Given the description of an element on the screen output the (x, y) to click on. 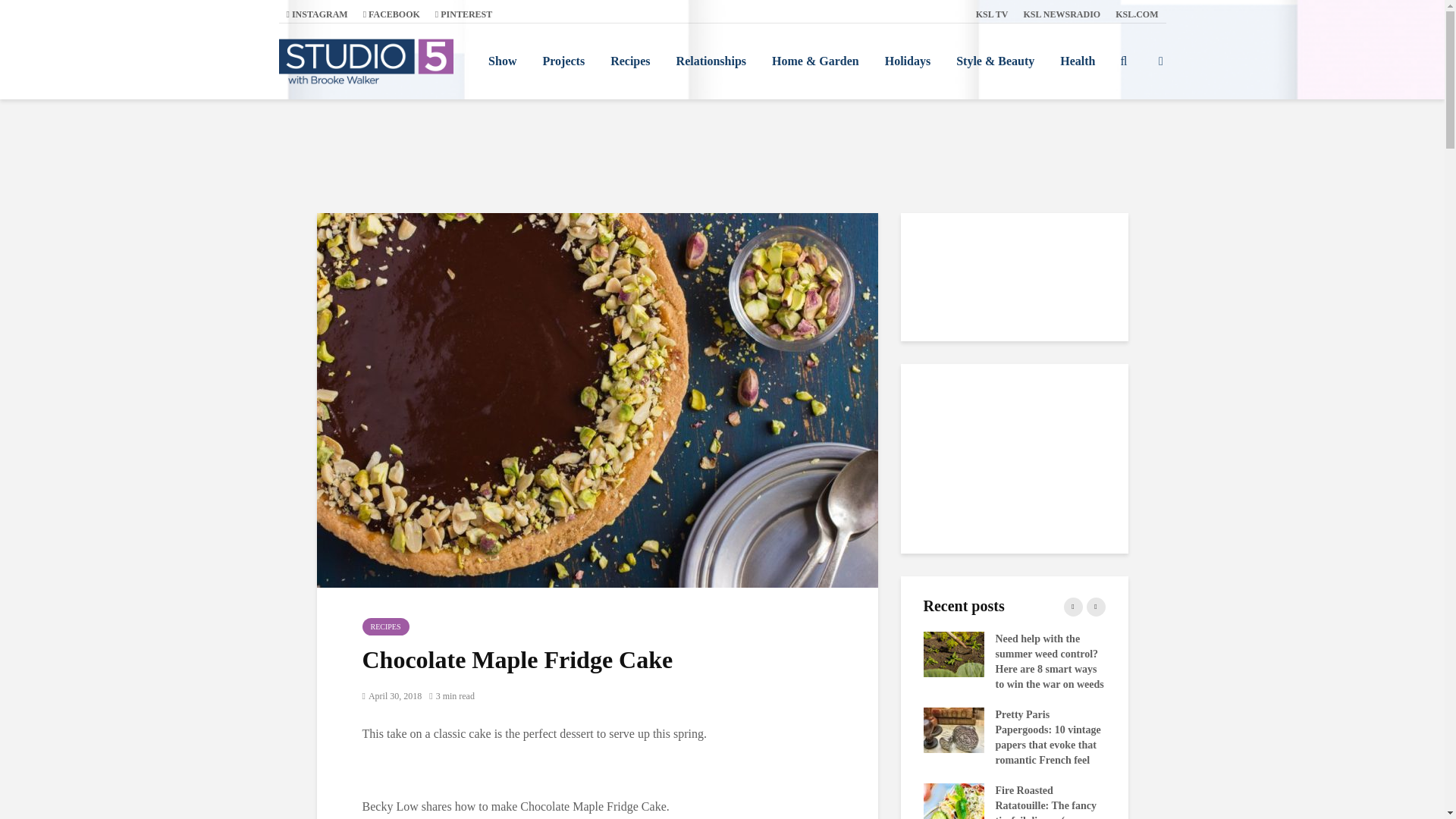
PINTEREST (463, 14)
Projects (563, 60)
Recipes (629, 60)
3rd party ad content (721, 156)
RECIPES (385, 626)
3rd party ad content (1014, 458)
Health (1077, 60)
KSL NEWSRADIO (1061, 14)
KSL.COM (1137, 14)
